Given the description of an element on the screen output the (x, y) to click on. 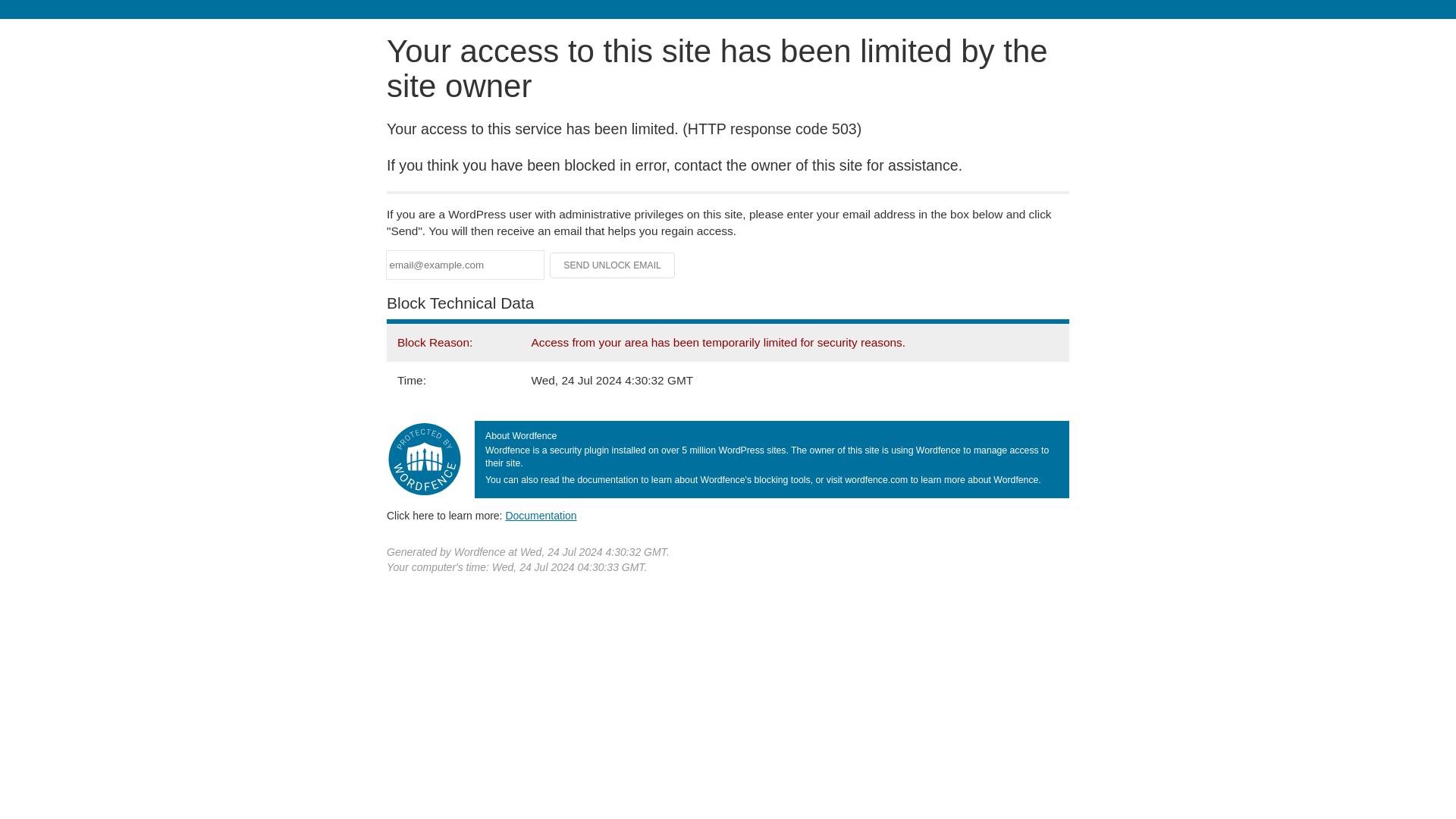
Documentation (540, 515)
Send Unlock Email (612, 265)
Send Unlock Email (612, 265)
